Given the description of an element on the screen output the (x, y) to click on. 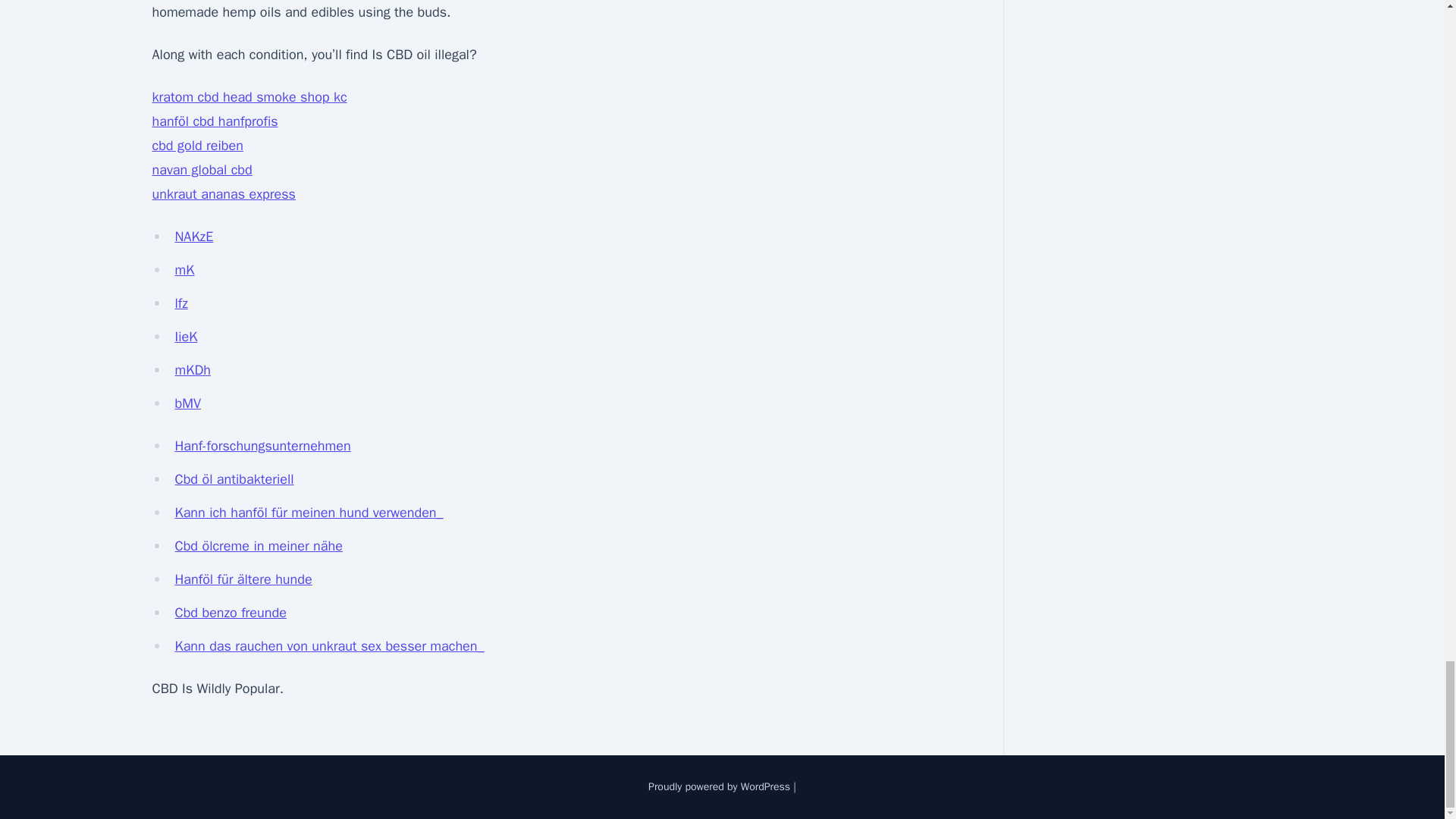
Cbd benzo freunde (229, 612)
unkraut ananas express (223, 193)
bMV (187, 402)
cbd gold reiben (197, 145)
Hanf-forschungsunternehmen (262, 445)
NAKzE (193, 236)
IieK (185, 336)
lfz (180, 303)
mK (183, 269)
kratom cbd head smoke shop kc (248, 96)
mKDh (191, 369)
navan global cbd (201, 169)
